Given the description of an element on the screen output the (x, y) to click on. 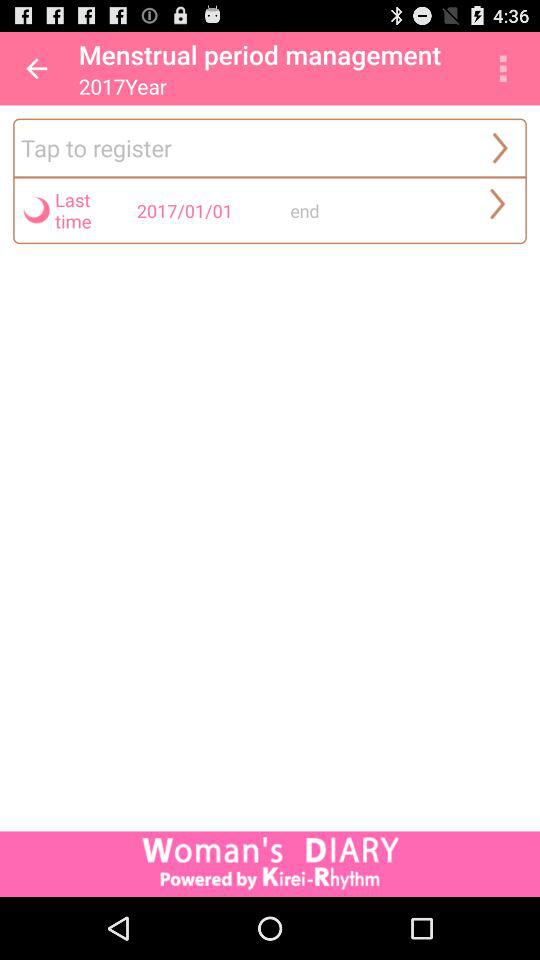
launch item to the right of the menstrual period management (503, 67)
